Given the description of an element on the screen output the (x, y) to click on. 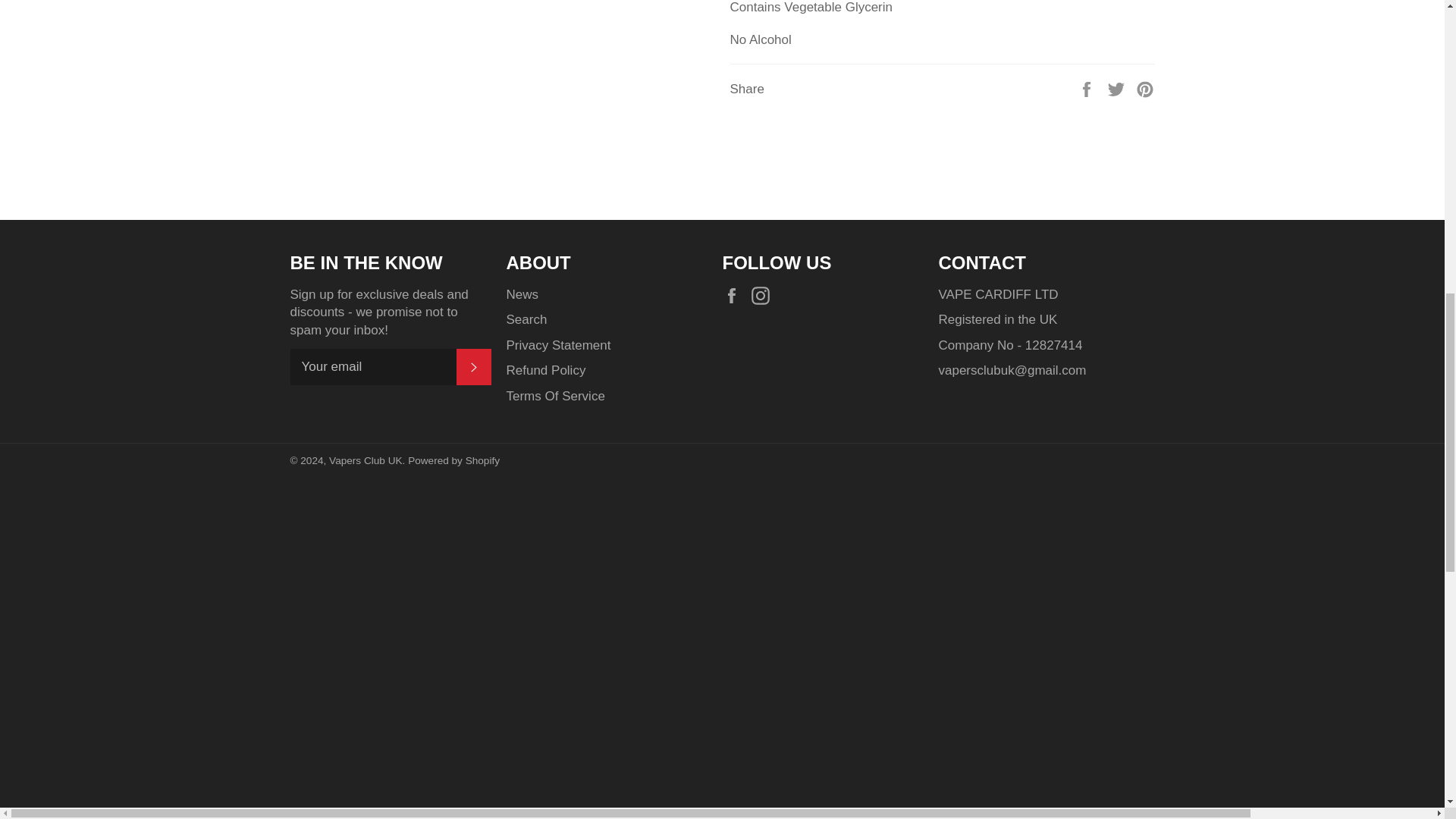
Vapers Club UK on Facebook (735, 294)
Vapers Club UK on Instagram (764, 294)
Pin on Pinterest (1144, 88)
Tweet on Twitter (1117, 88)
Share on Facebook (1088, 88)
